Given the description of an element on the screen output the (x, y) to click on. 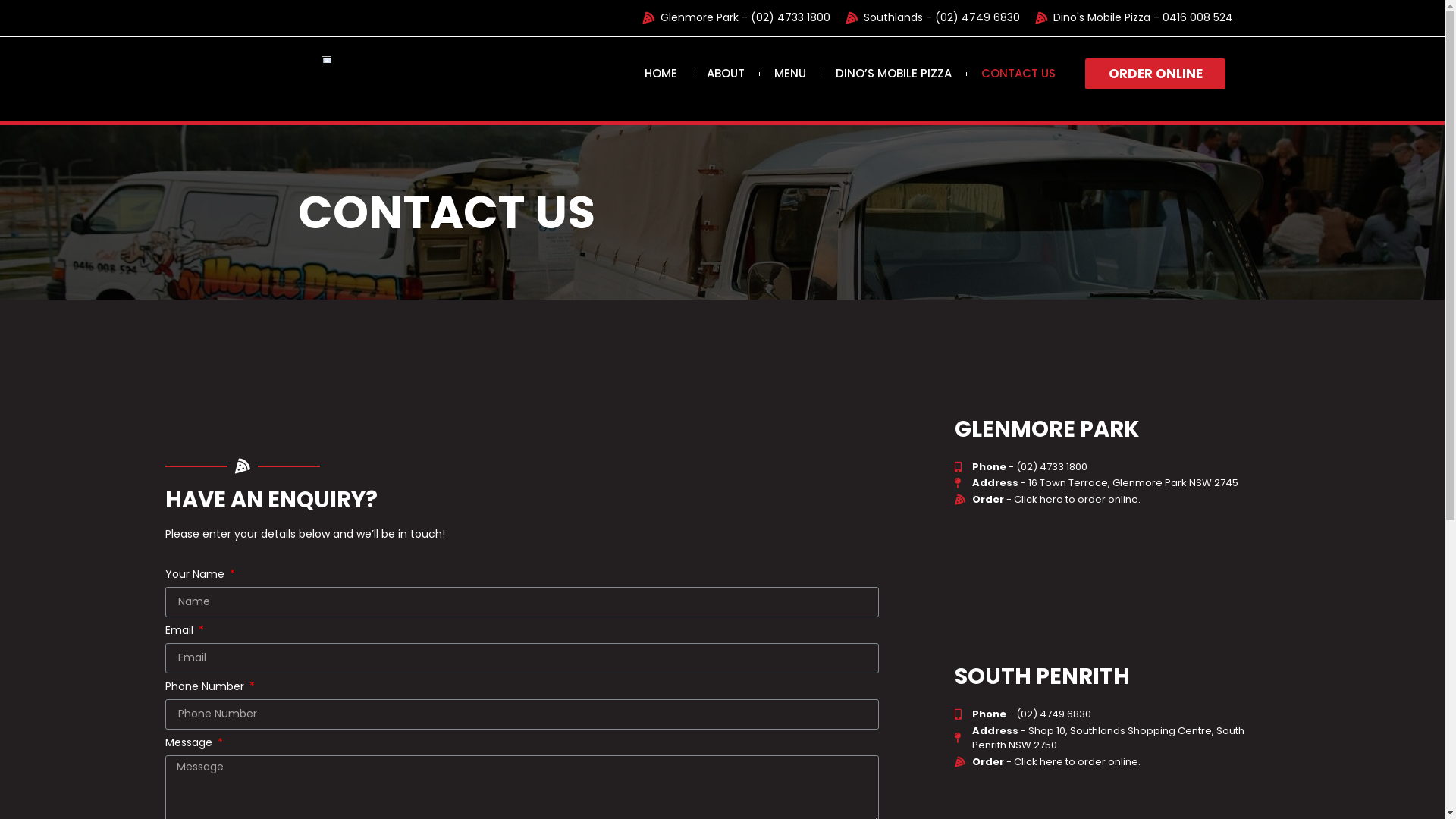
ABOUT Element type: text (725, 73)
Glenmore Park - (02) 4733 1800 Element type: text (733, 17)
CONTACT US Element type: text (1018, 73)
Southlands - (02) 4749 6830 Element type: text (930, 17)
Order - Click here to order online. Element type: text (1116, 499)
Phone - (02) 4749 6830 Element type: text (1116, 713)
ORDER ONLINE Element type: text (1155, 72)
Phone - (02) 4733 1800 Element type: text (1116, 466)
MENU Element type: text (789, 73)
HOME Element type: text (660, 73)
Dino's Mobile Pizza - 0416 008 524 Element type: text (1131, 17)
Order - Click here to order online. Element type: text (1116, 761)
dinos pizza glenmore park Element type: hover (1116, 583)
